Given the description of an element on the screen output the (x, y) to click on. 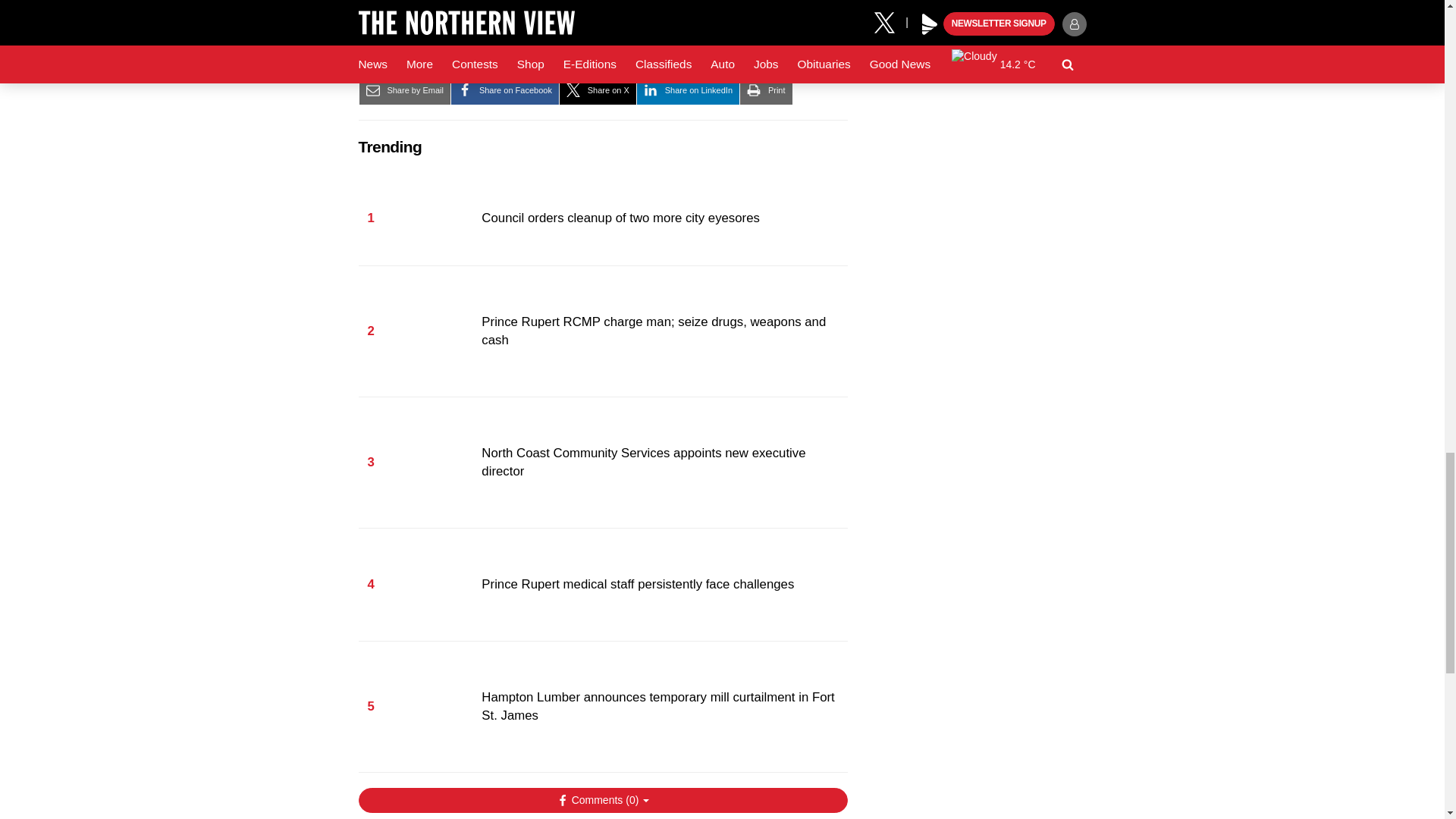
Show Comments (602, 800)
